Given the description of an element on the screen output the (x, y) to click on. 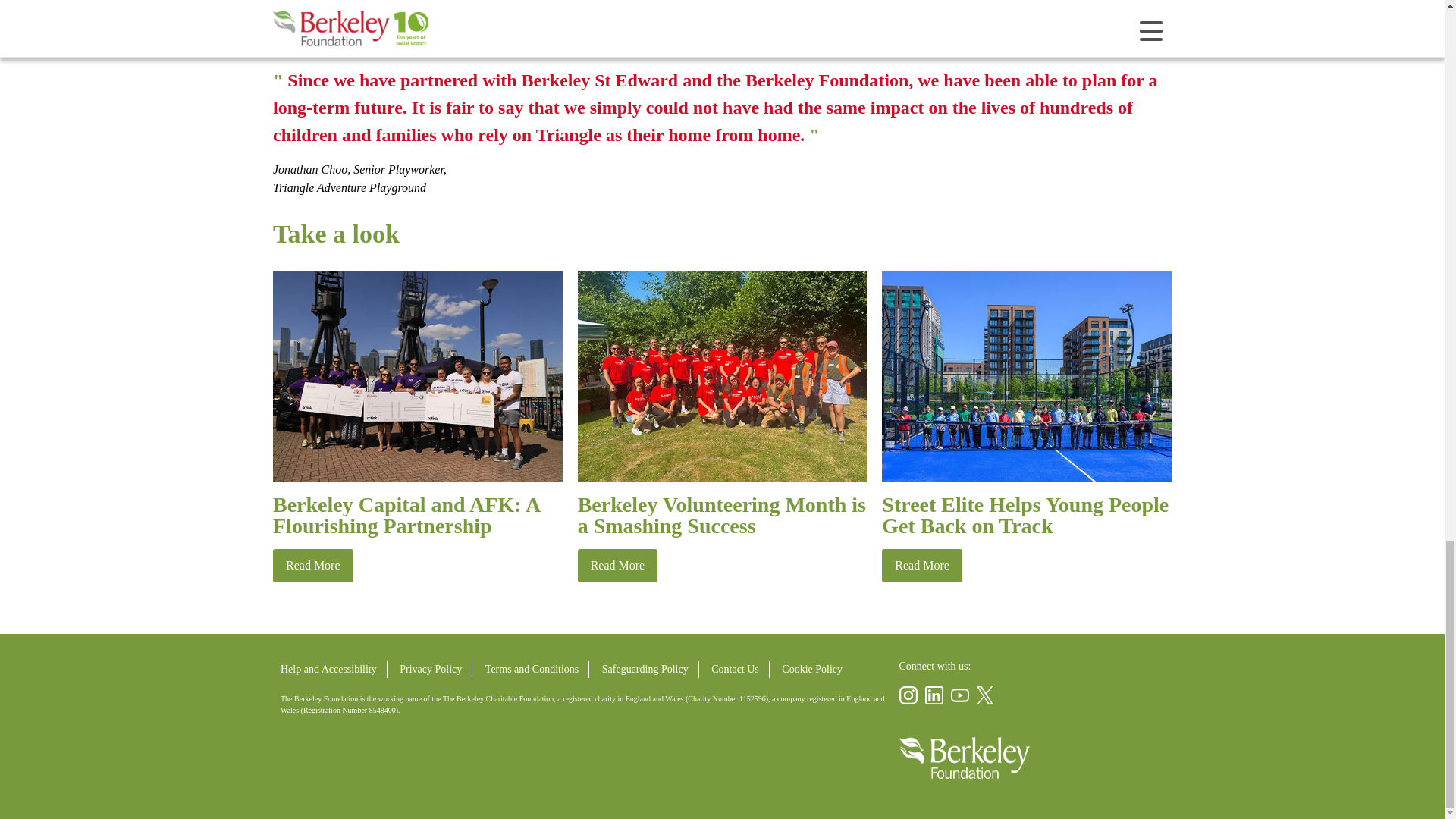
Contact Us (734, 669)
Contact Us (734, 669)
Cookie Policy (811, 669)
Read The Full Article (313, 565)
Follow us on Linkedin (933, 695)
Read More (313, 565)
Cookie Policy (811, 669)
Terms and Conditions (532, 669)
Safeguarding Policy (645, 669)
Berkeley Foundation (964, 758)
Help and Accessibility (328, 669)
Follow us on X (985, 695)
Safeguarding Policy (645, 669)
Privacy Policy (430, 669)
Follow us on Youtube (959, 695)
